Given the description of an element on the screen output the (x, y) to click on. 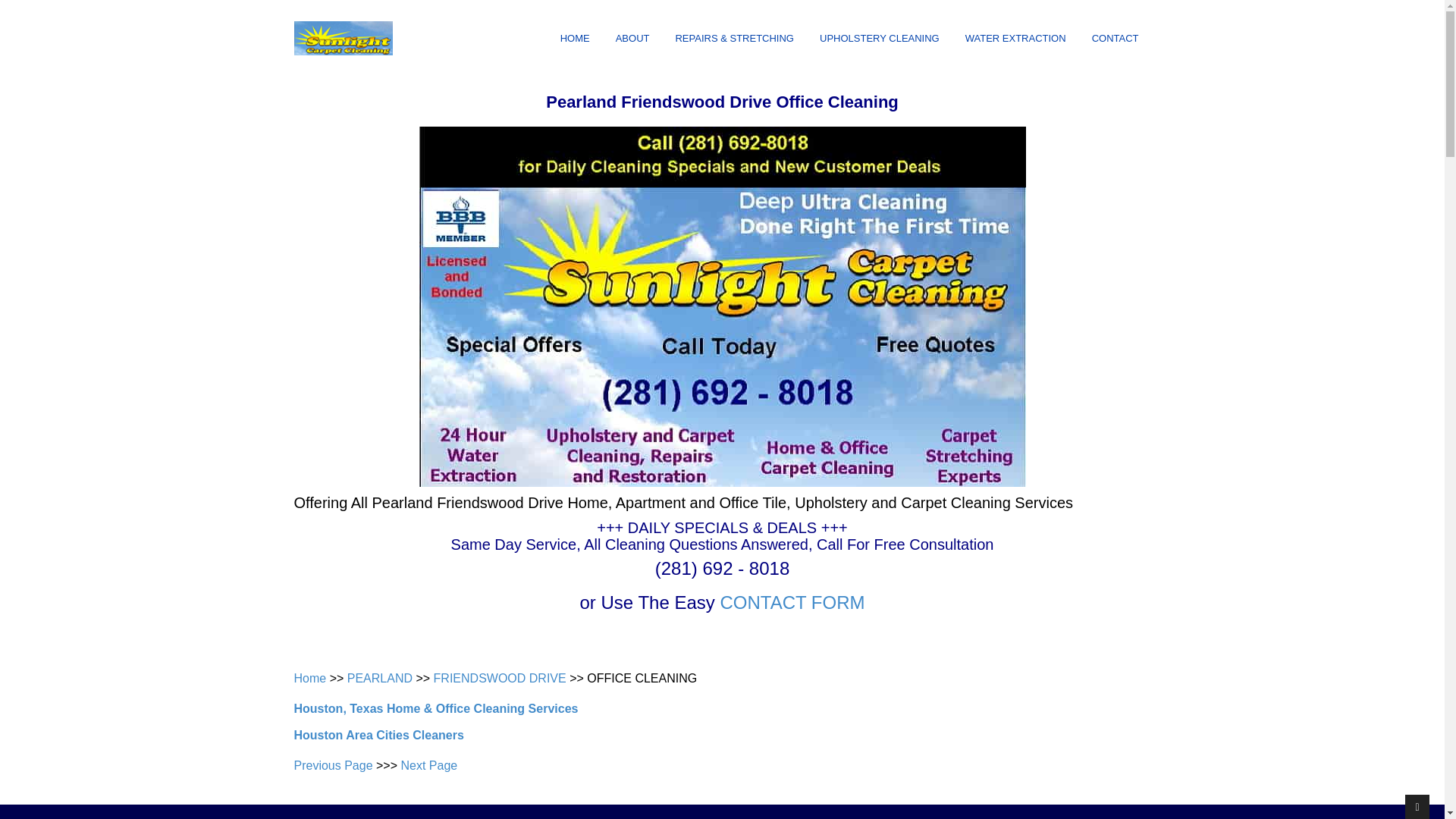
PEARLAND (379, 677)
Home (310, 677)
HOME (575, 38)
CONTACT (1115, 38)
FRIENDSWOOD DRIVE (499, 677)
ABOUT (633, 38)
Next Page (428, 765)
WATER EXTRACTION (1015, 38)
Houston Area Cities Cleaners (379, 735)
UPHOLSTERY CLEANING (880, 38)
CONTACT FORM (791, 602)
Previous Page (333, 765)
